Given the description of an element on the screen output the (x, y) to click on. 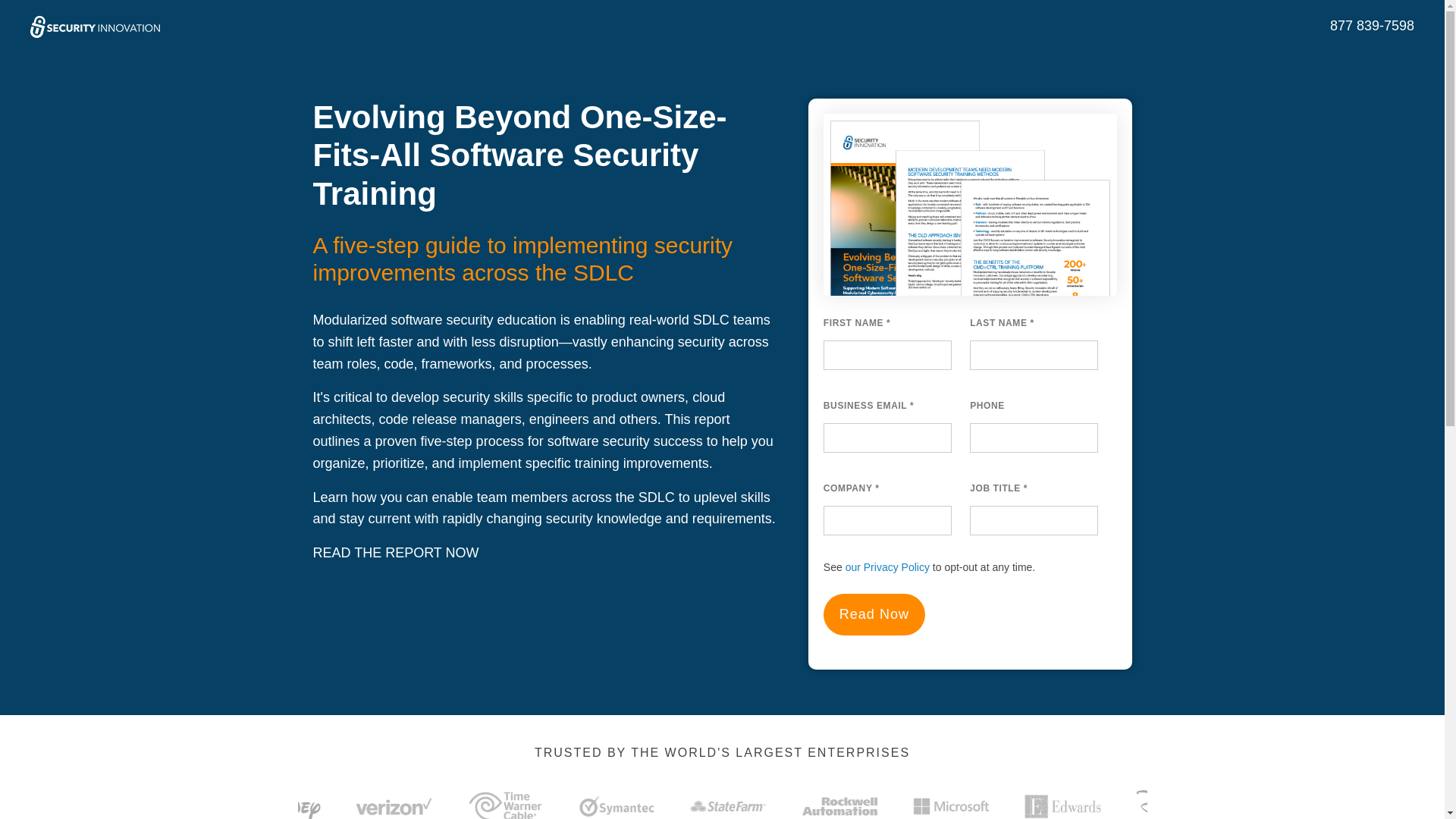
Read Now (874, 614)
our Privacy Policy (886, 567)
877 839-7598 (1371, 25)
Read Now (874, 614)
